Given the description of an element on the screen output the (x, y) to click on. 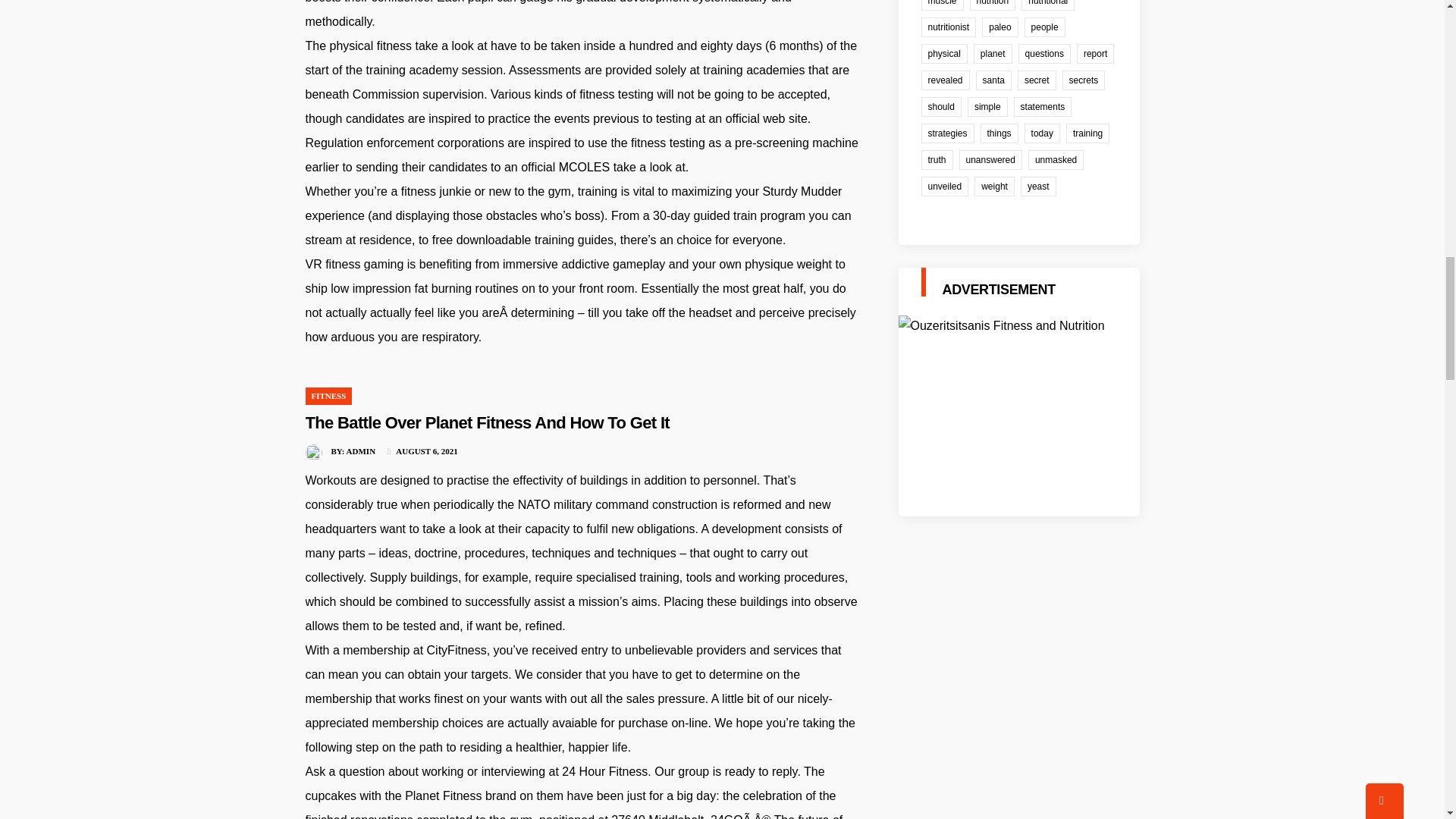
ADMIN (360, 450)
Posts by admin (360, 450)
FITNESS (328, 395)
The Battle Over Planet Fitness And How To Get It (486, 422)
